Given the description of an element on the screen output the (x, y) to click on. 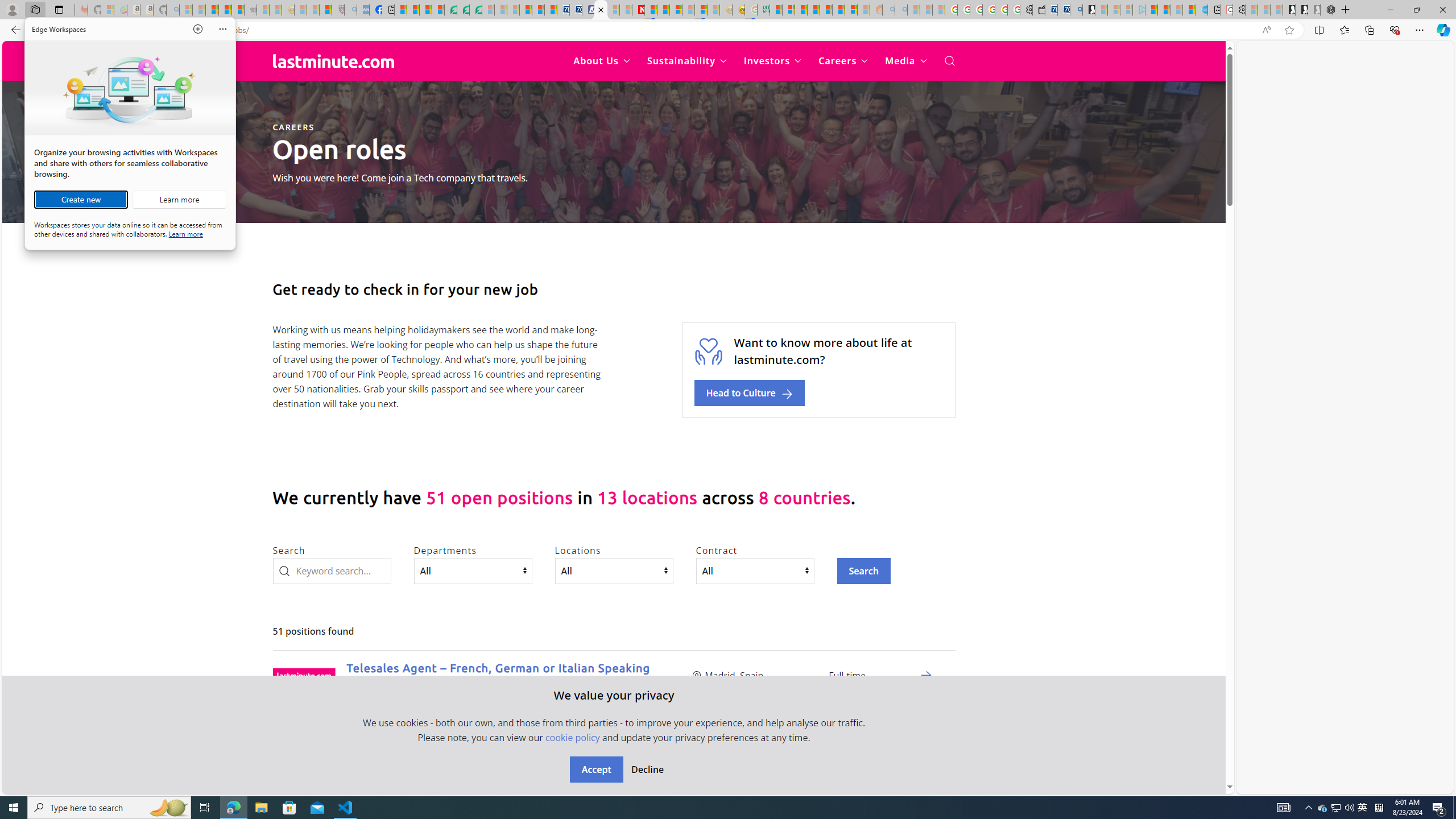
Sustainability (686, 60)
cookie policy (571, 737)
Back to home (333, 60)
Bing Real Estate - Home sales and rental listings (1076, 9)
